Given the description of an element on the screen output the (x, y) to click on. 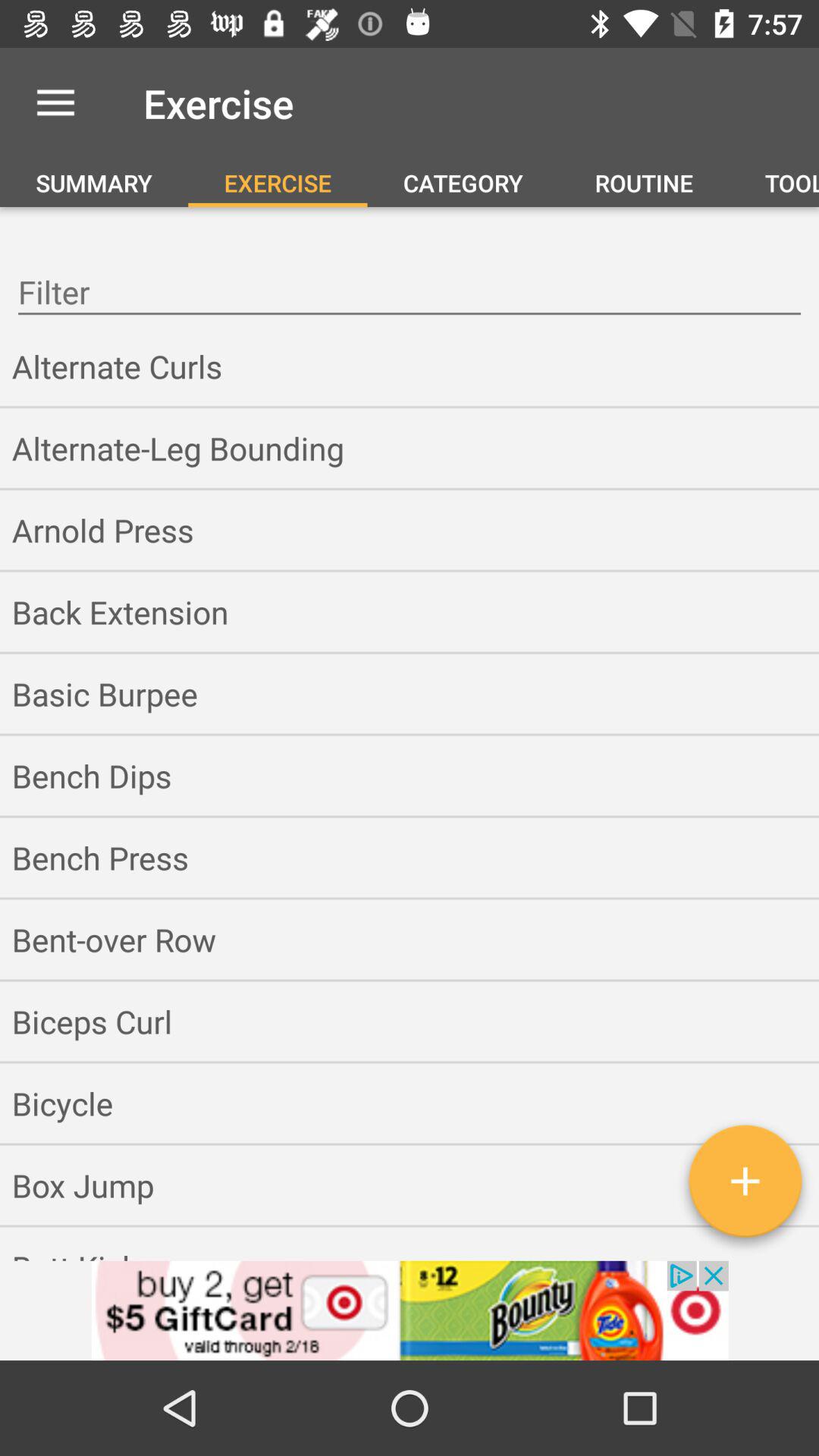
add a filter (745, 1186)
